Given the description of an element on the screen output the (x, y) to click on. 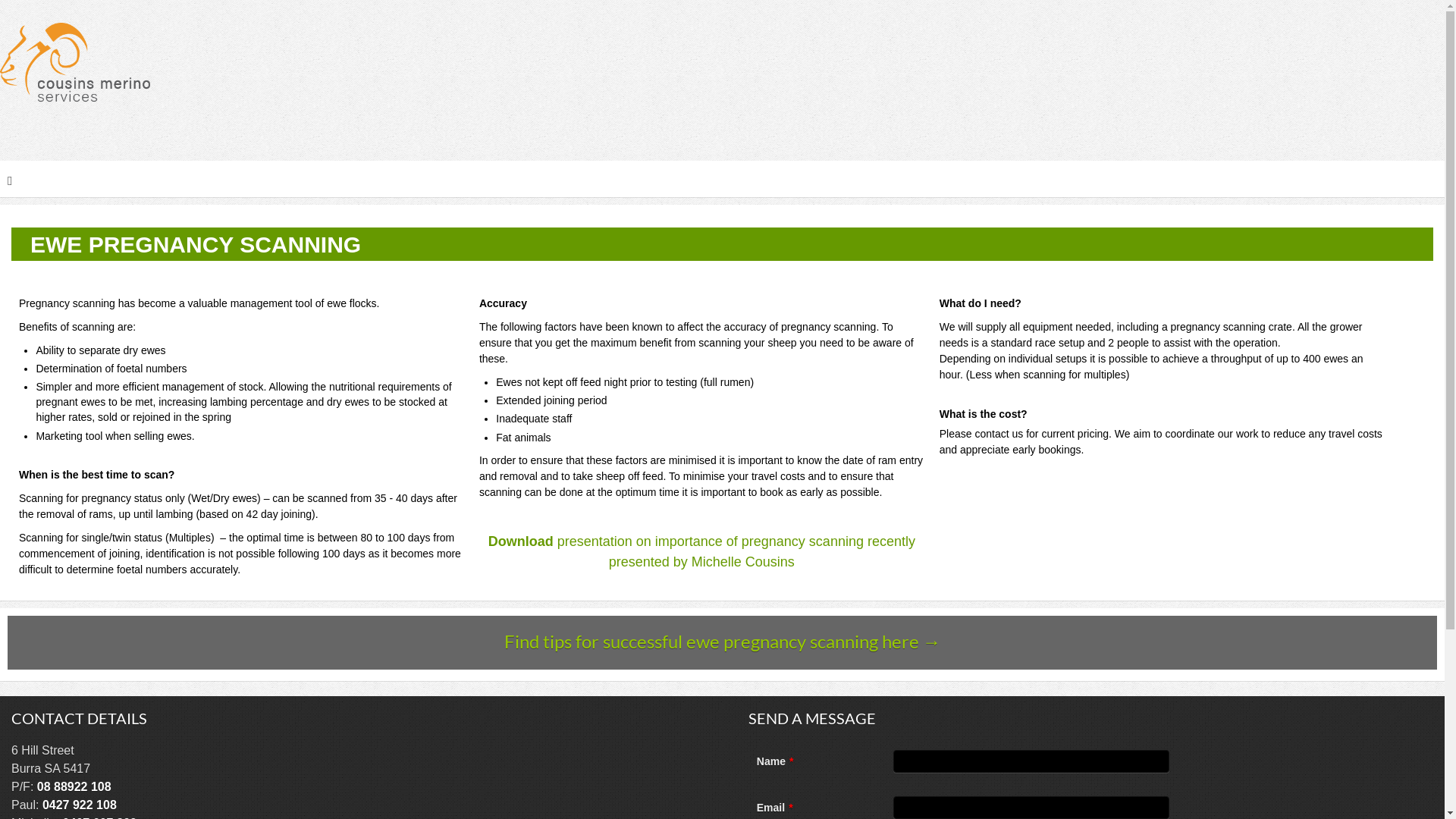
08 88922 108 Element type: text (74, 786)
Download Element type: text (520, 541)
Facebook Element type: text (1431, 140)
0427 922 108 Element type: text (79, 804)
